Given the description of an element on the screen output the (x, y) to click on. 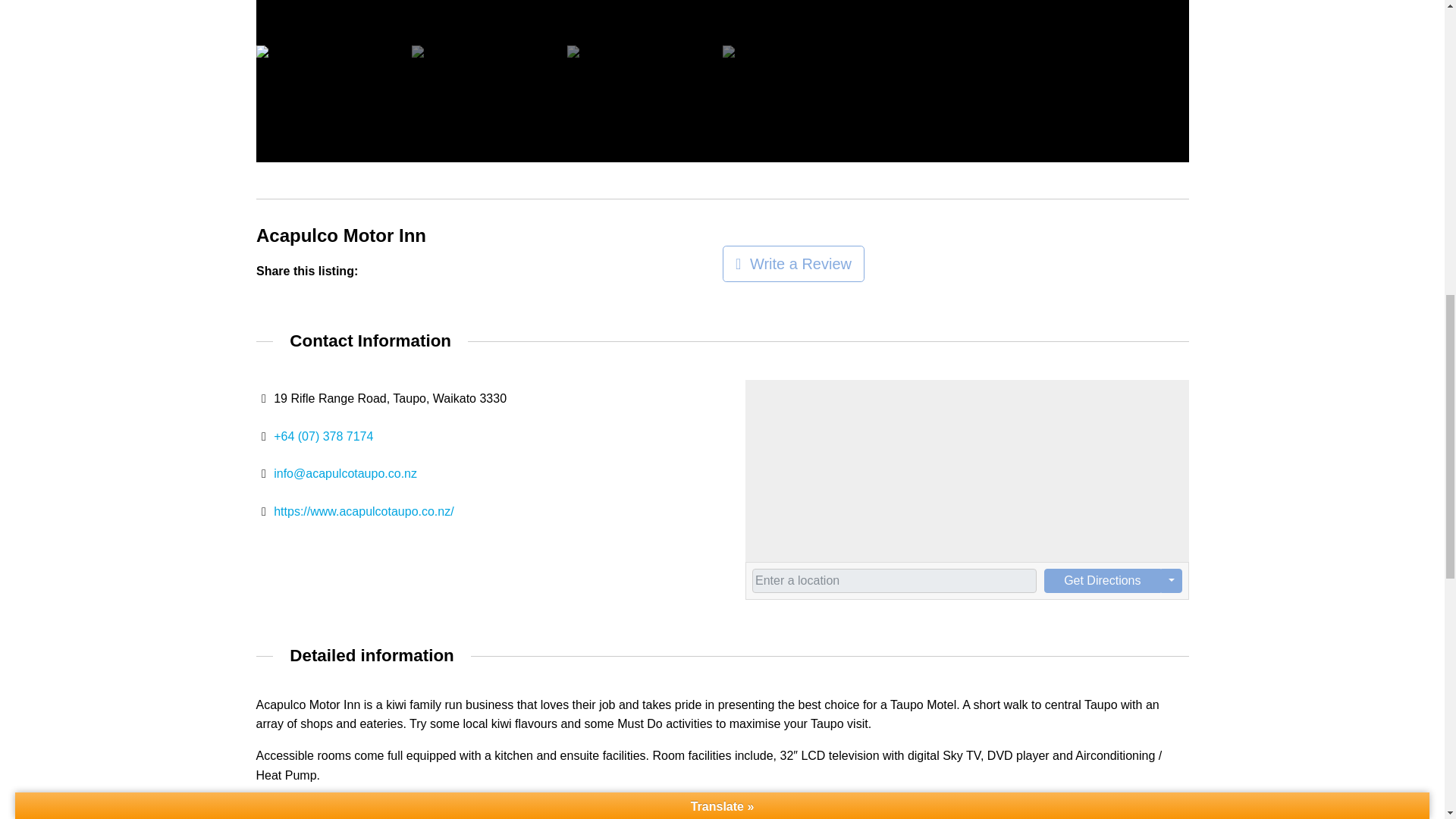
Write a Review (792, 263)
Get Directions (1101, 580)
